Given the description of an element on the screen output the (x, y) to click on. 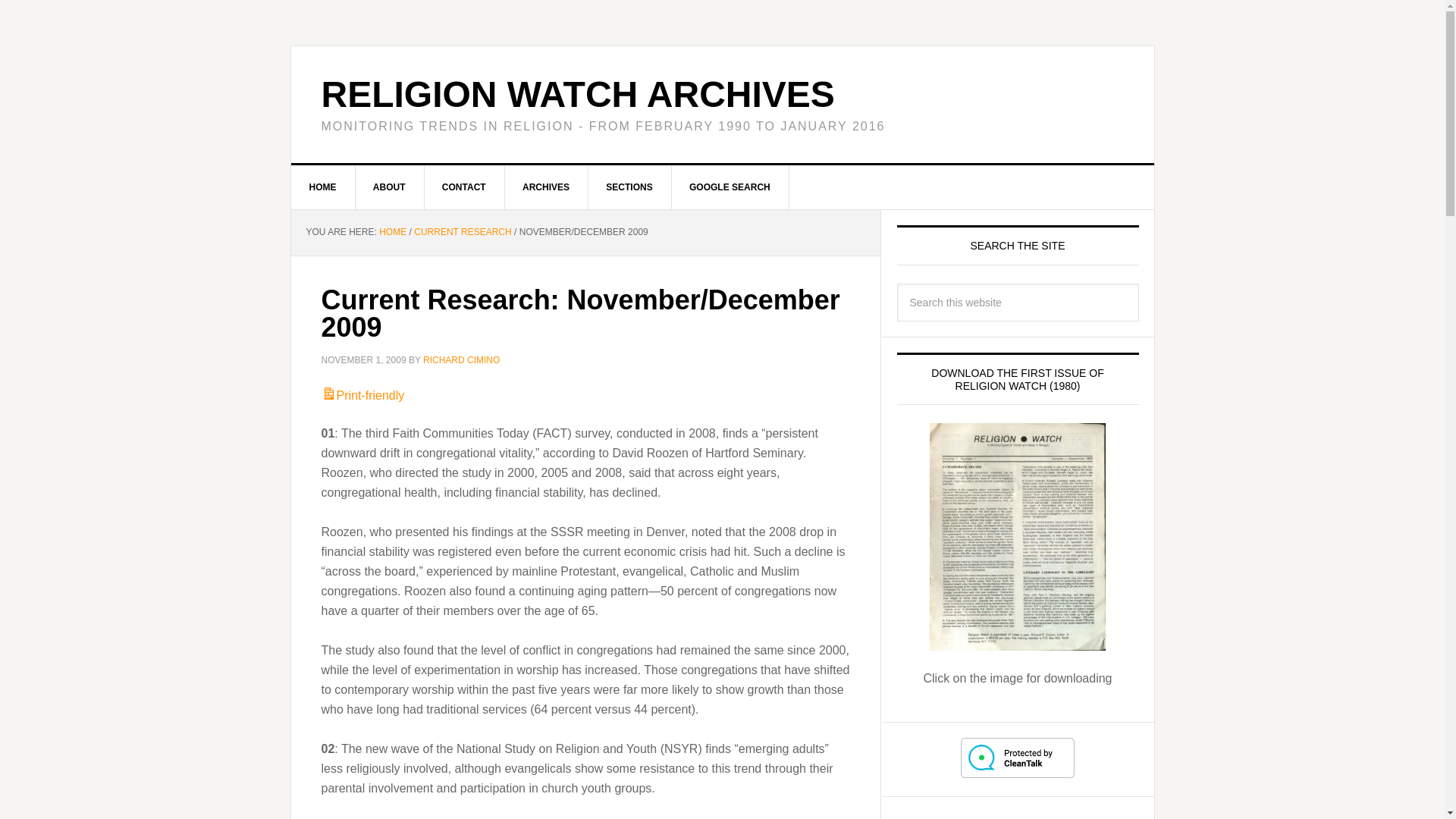
ABOUT (390, 187)
SECTIONS (629, 187)
RICHARD CIMINO (461, 359)
GOOGLE SEARCH (730, 187)
RELIGION WATCH ARCHIVES (577, 94)
CURRENT RESEARCH (462, 231)
CONTACT (464, 187)
ARCHIVES (545, 187)
Print-friendly (362, 395)
HOME (392, 231)
HOME (323, 187)
